Given the description of an element on the screen output the (x, y) to click on. 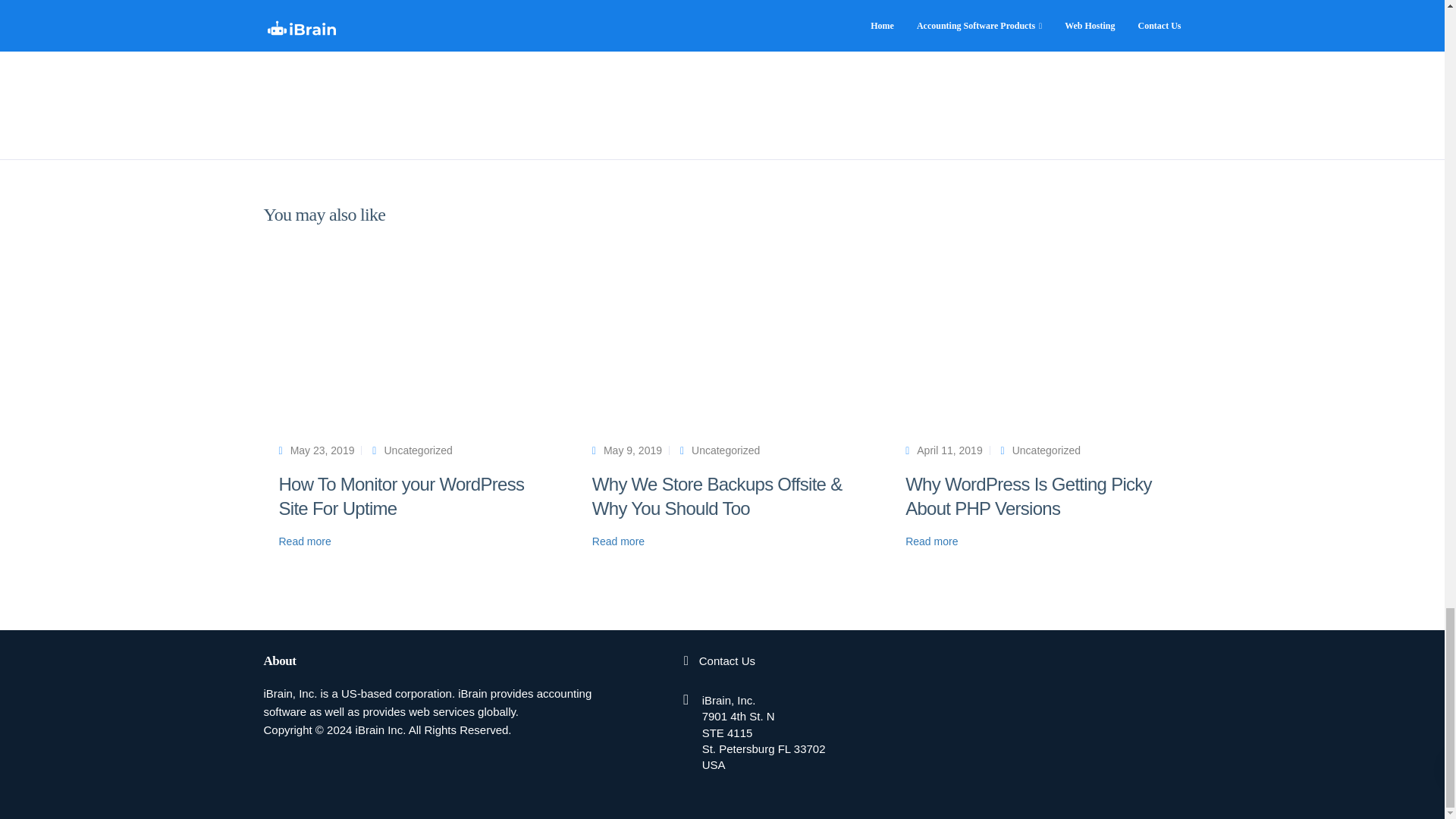
May 9, 2019 (633, 450)
April 11, 2019 (949, 450)
Read more (931, 541)
Uncategorized (725, 450)
Contact Us (726, 660)
Read more (305, 541)
Uncategorized (417, 450)
How To Monitor your WordPress Site For Uptime (401, 496)
May 23, 2019 (322, 450)
Why WordPress Is Getting Picky About PHP Versions (1028, 496)
How To Monitor your WordPress Site For Uptime (401, 496)
How To Monitor your WordPress Site For Uptime (322, 450)
Read more (618, 541)
Uncategorized (1045, 450)
